Given the description of an element on the screen output the (x, y) to click on. 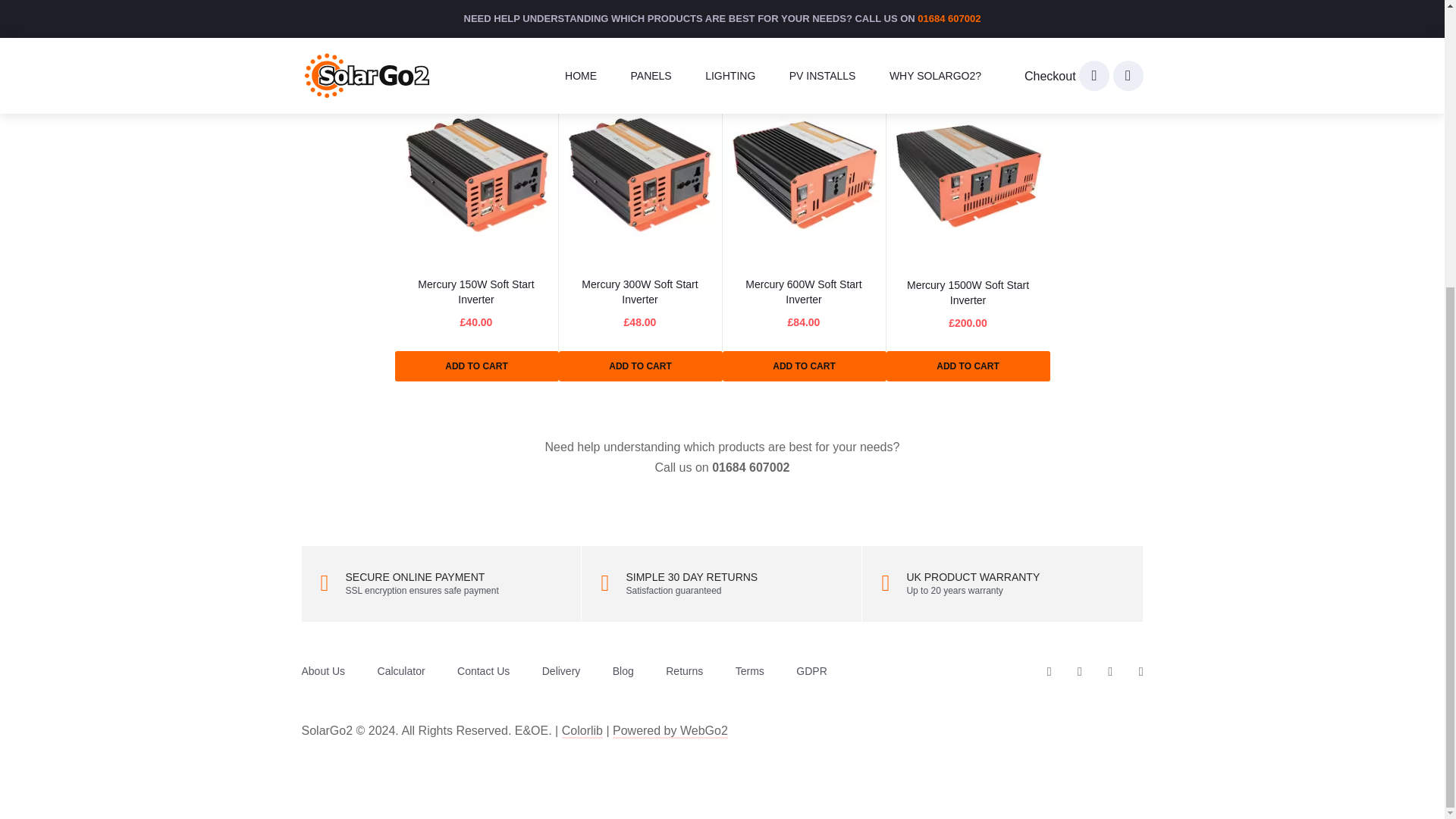
Calculator (401, 671)
Mercury 150W Soft Start Inverter (475, 291)
GDPR (811, 671)
ADD TO CART (475, 366)
Terms (749, 671)
Mercury 300W Soft Start Inverter (638, 291)
Contact Us (483, 671)
SolarGo2 updates and information (622, 671)
ADD TO CART (803, 366)
Who are SolarGo2 and what do we do? (323, 671)
Get in touch with SolarGo2 (483, 671)
Blog (622, 671)
Solar panel efficiency calculator (401, 671)
ADD TO CART (967, 366)
Mercury 600W Soft Start Inverter (803, 291)
